Given the description of an element on the screen output the (x, y) to click on. 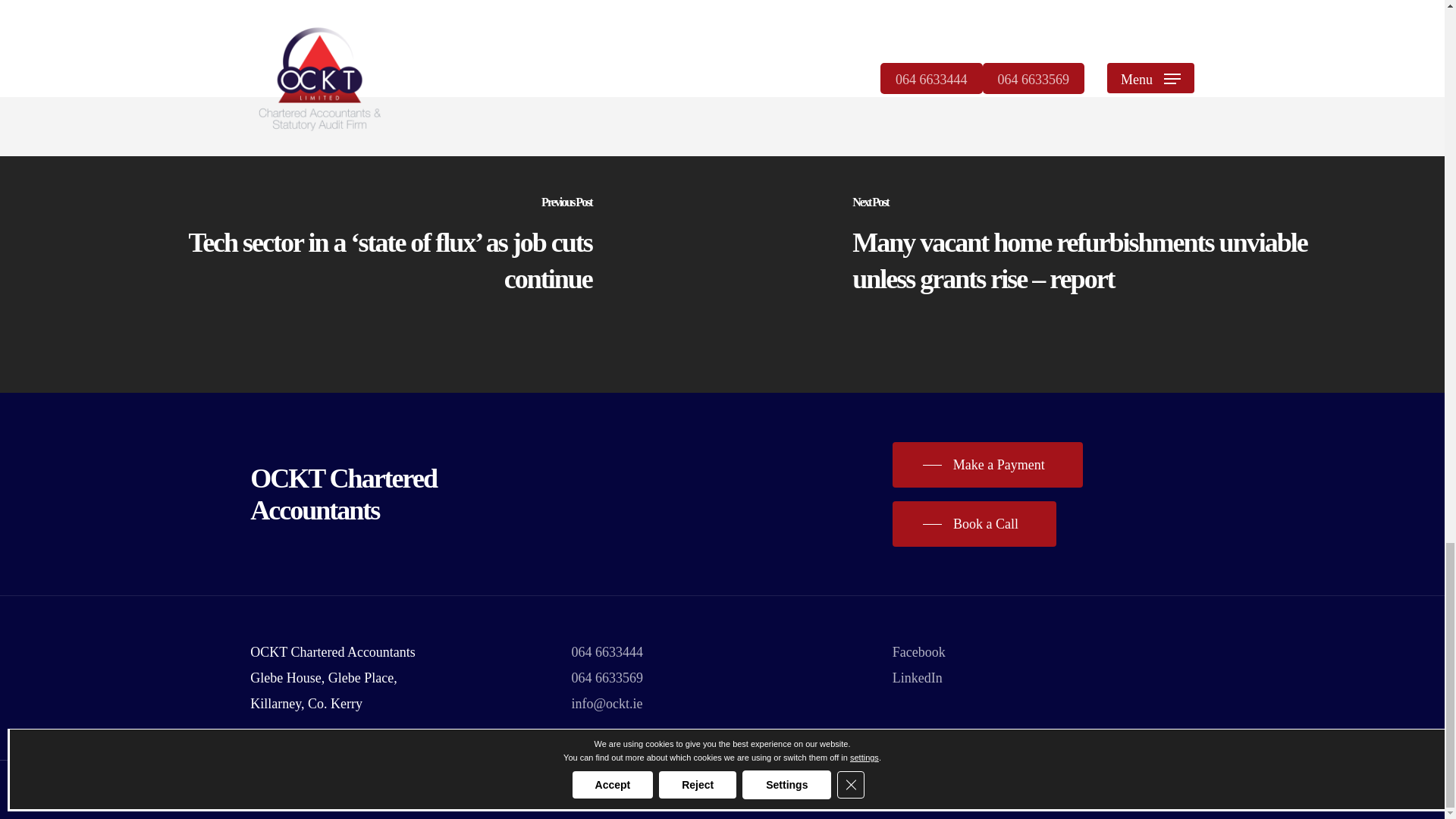
Privacy (459, 790)
LinkedIn (917, 677)
Book a Call (974, 524)
Facebook (918, 652)
Practice Hook (635, 790)
Terms (507, 790)
064 6633569 (607, 677)
Make a Payment (987, 464)
064 6633444 (607, 652)
Cookies (557, 790)
